Given the description of an element on the screen output the (x, y) to click on. 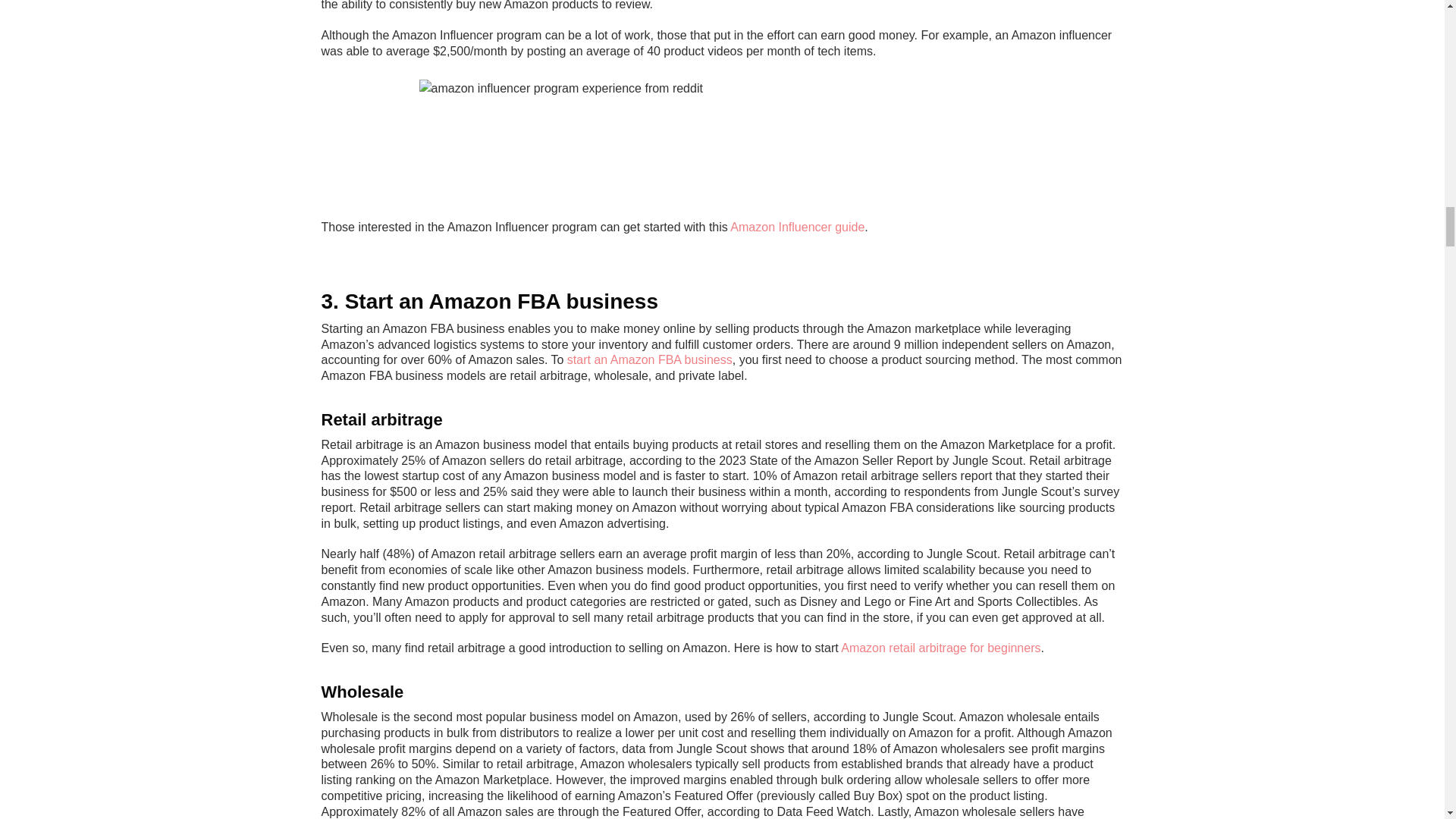
start an Amazon FBA business (649, 359)
Amazon Influencer guide (797, 226)
amazon influencer program experience (722, 143)
Amazon retail arbitrage for beginners (941, 647)
